Given the description of an element on the screen output the (x, y) to click on. 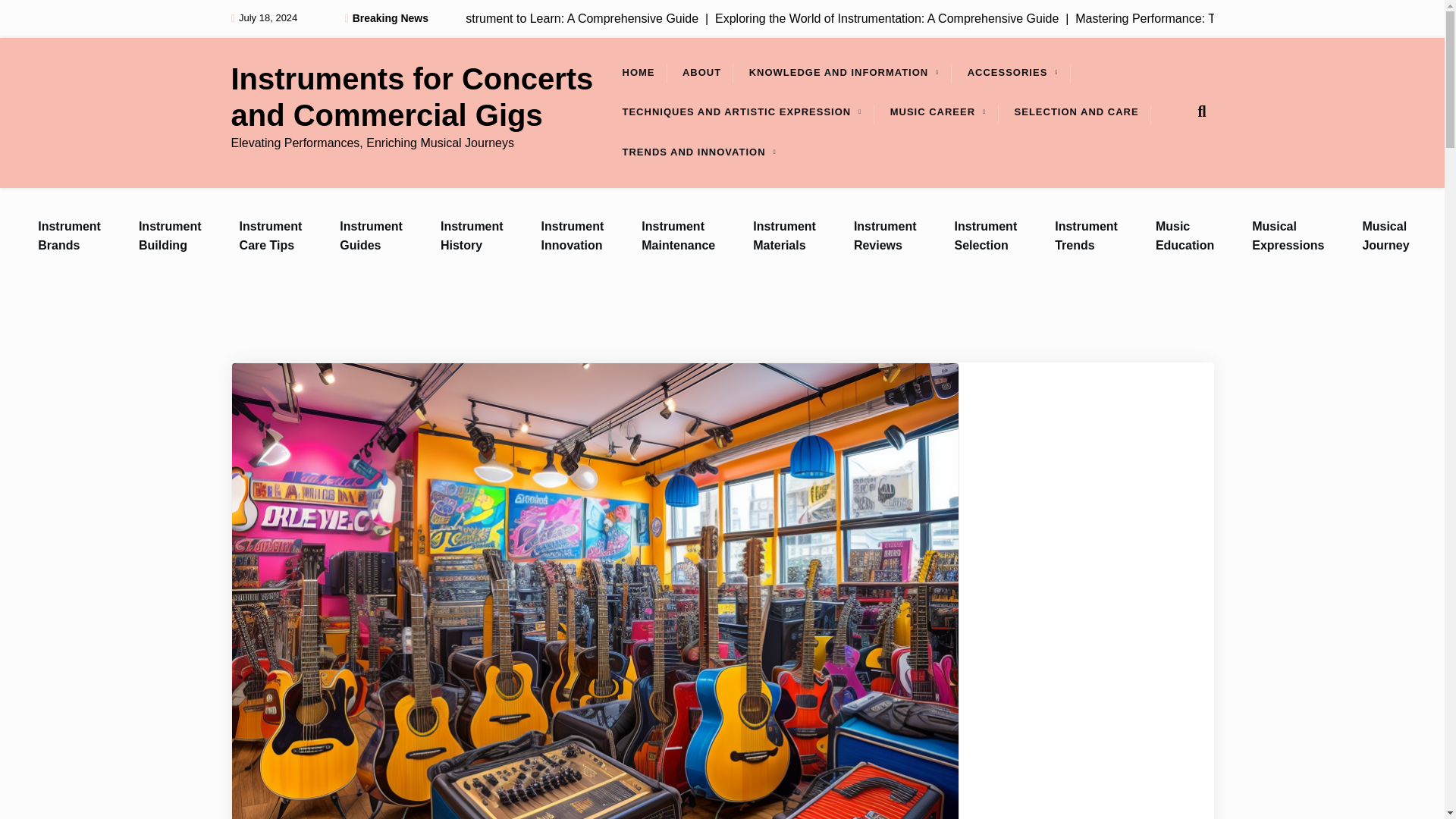
Instruments for Concerts and Commercial Gigs (420, 96)
ABOUT (701, 73)
HOME (638, 73)
KNOWLEDGE AND INFORMATION (838, 73)
